Given the description of an element on the screen output the (x, y) to click on. 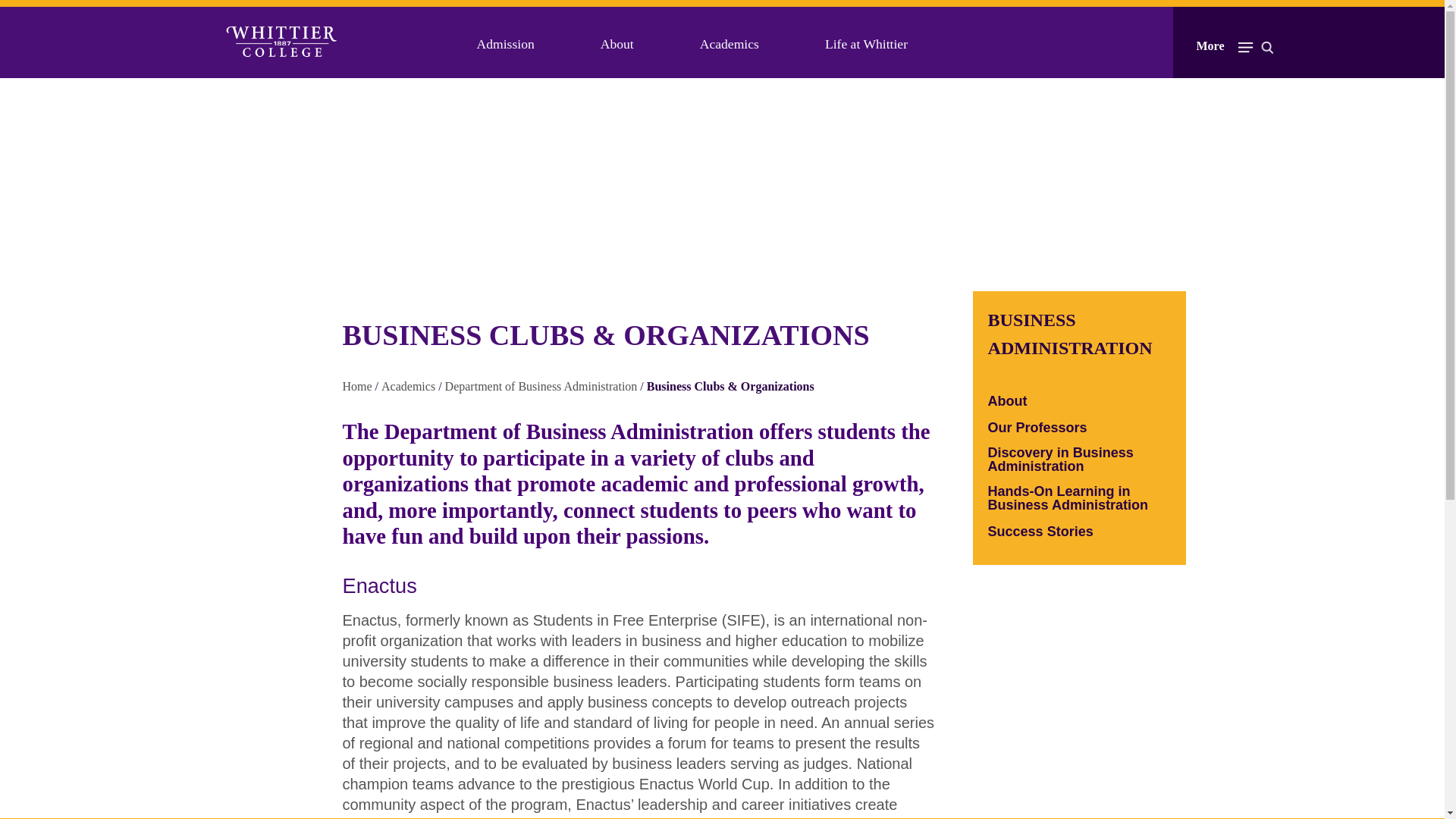
Academics (729, 43)
Life at Whittier (866, 43)
About (616, 43)
Admission (505, 43)
